Given the description of an element on the screen output the (x, y) to click on. 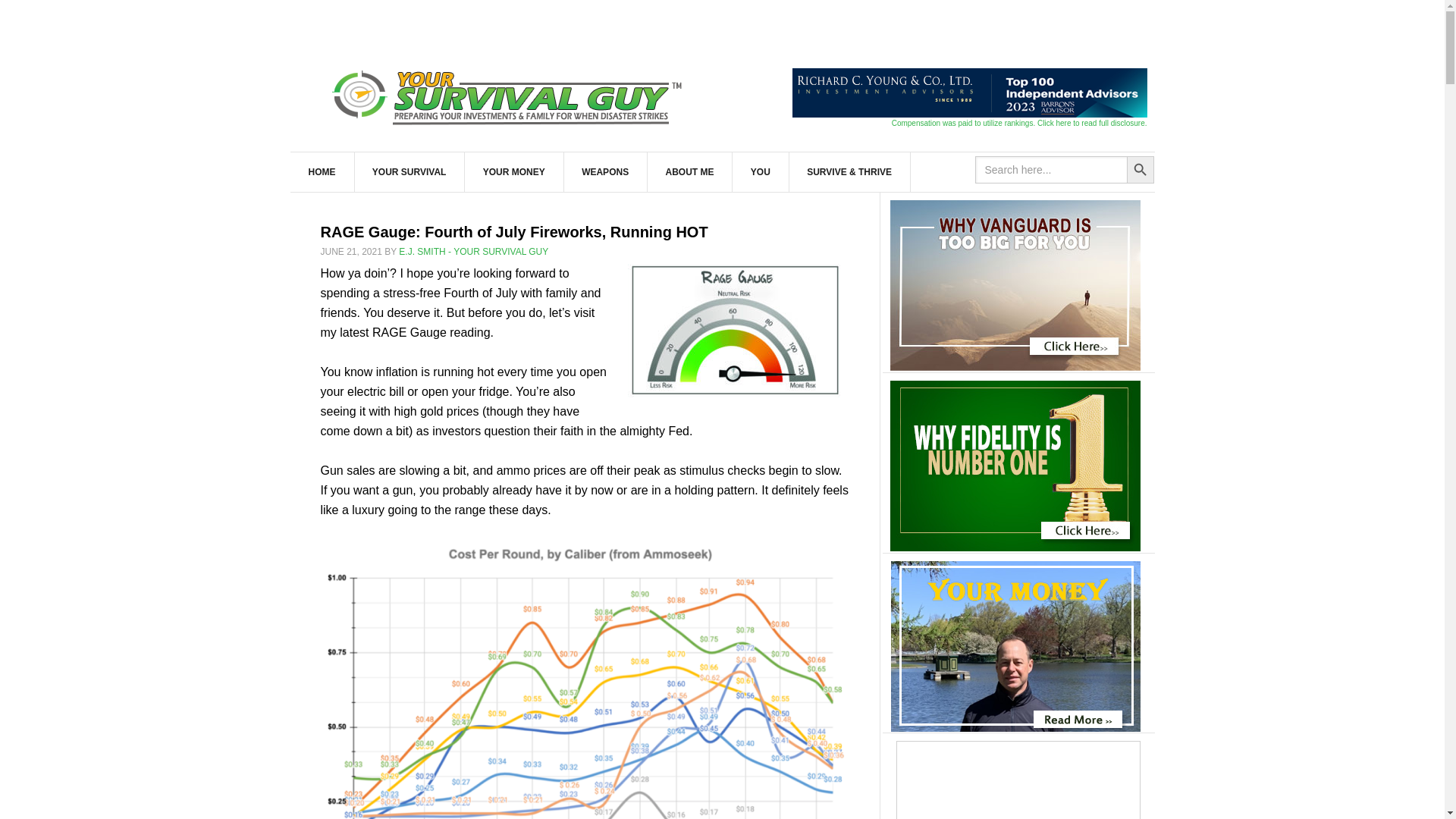
YOUR SURVIVAL (409, 171)
HOME (321, 171)
YOUR MONEY (514, 171)
WEAPONS (605, 171)
YOUR SURVIVAL GUY (509, 94)
